Given the description of an element on the screen output the (x, y) to click on. 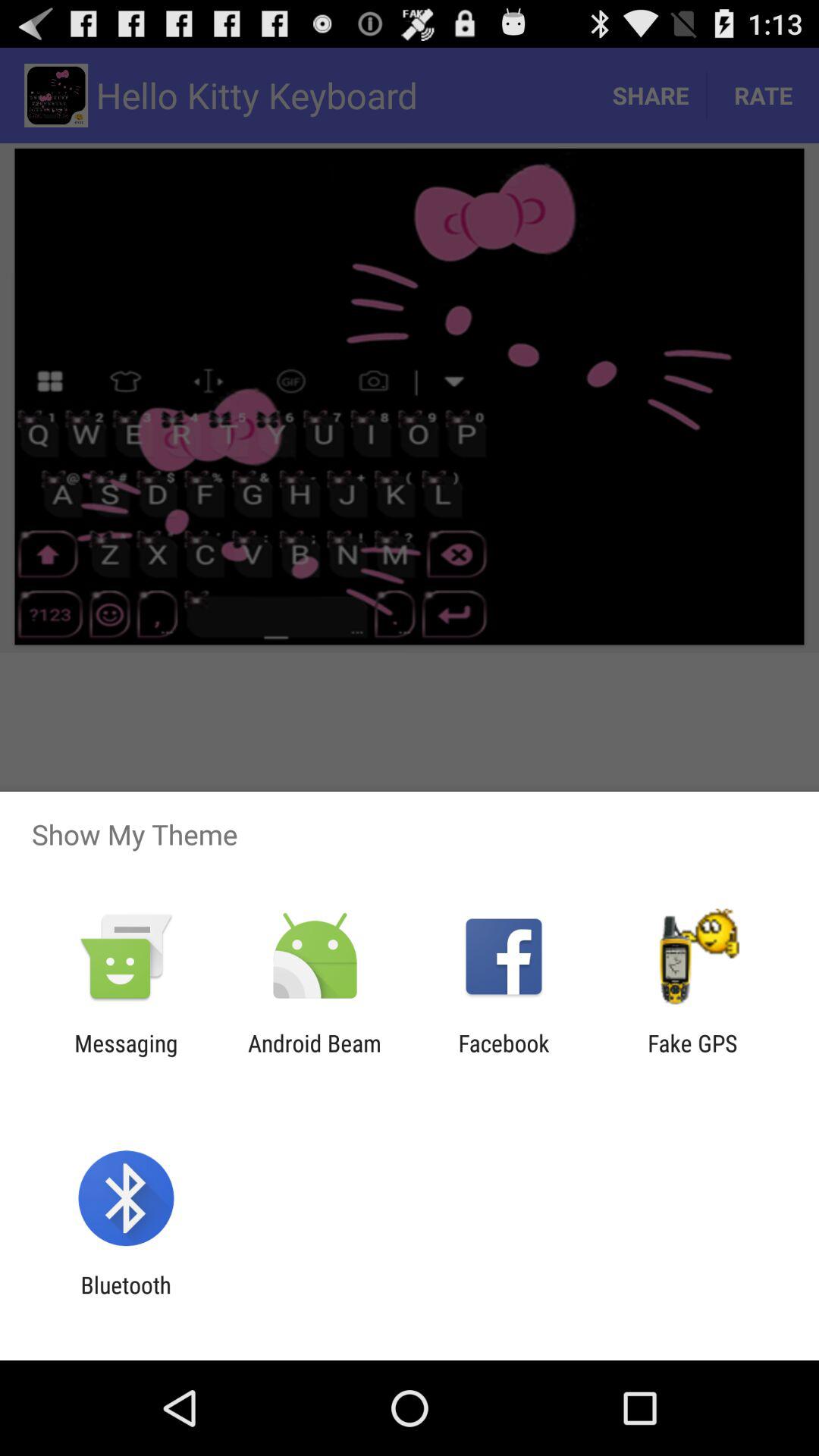
tap the item next to fake gps icon (503, 1056)
